Given the description of an element on the screen output the (x, y) to click on. 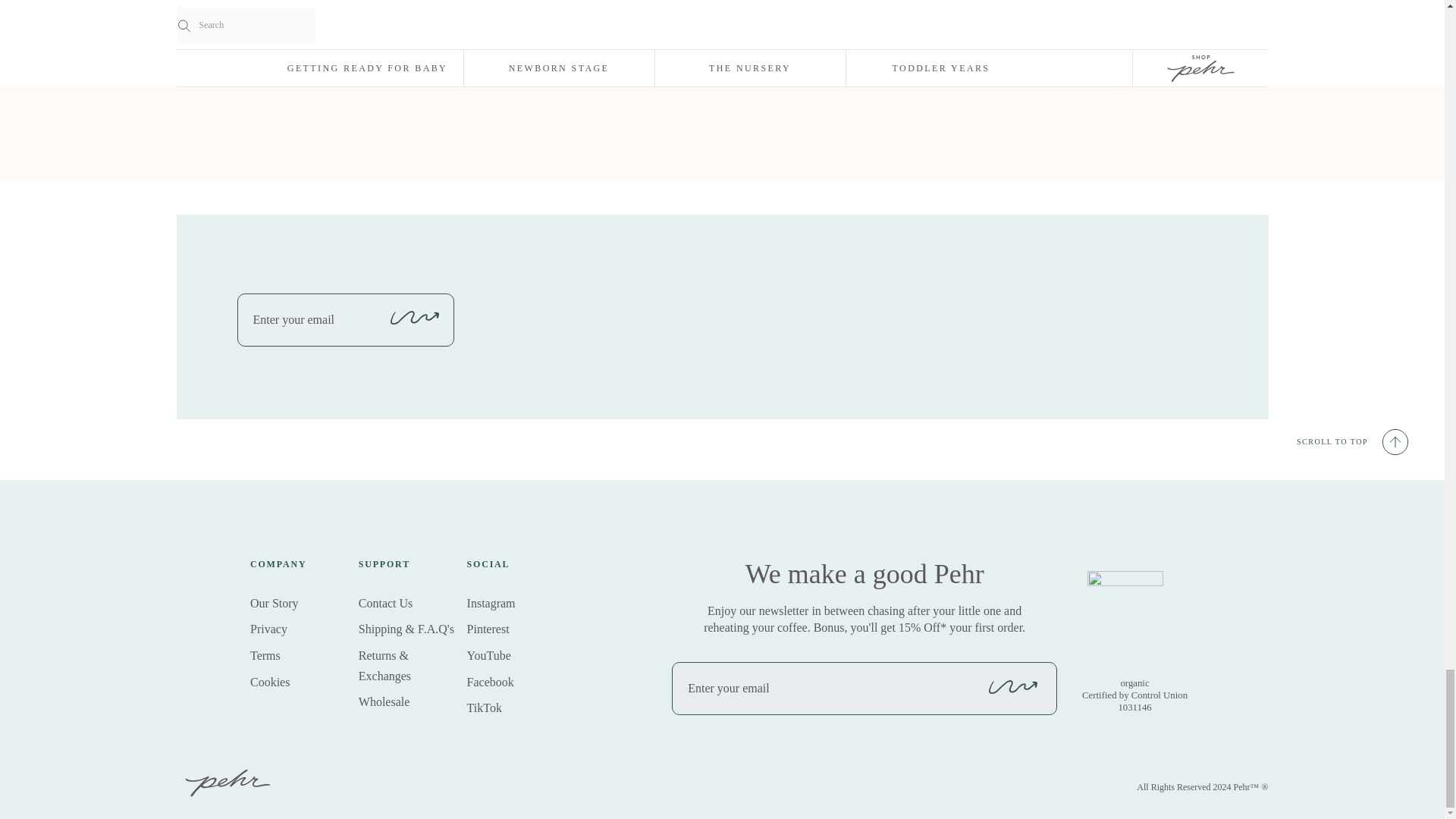
SCROLL TO TOP (1353, 441)
Our Story (274, 603)
Privacy (268, 628)
Terms (265, 655)
Contact Us (385, 603)
SCROLL TO TOP (1353, 441)
Cookies (269, 681)
